Given the description of an element on the screen output the (x, y) to click on. 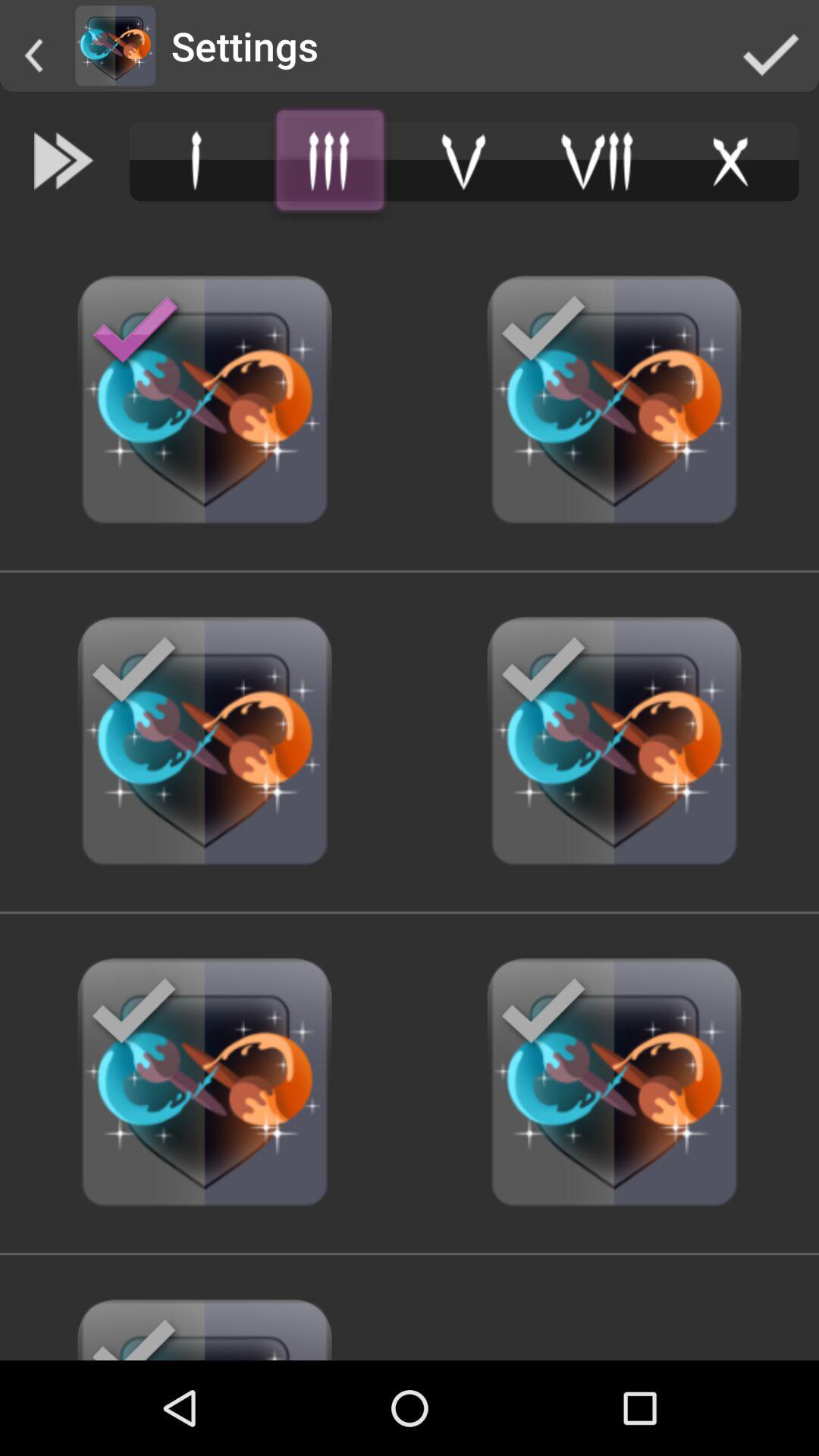
toggle page 3 (329, 161)
